Given the description of an element on the screen output the (x, y) to click on. 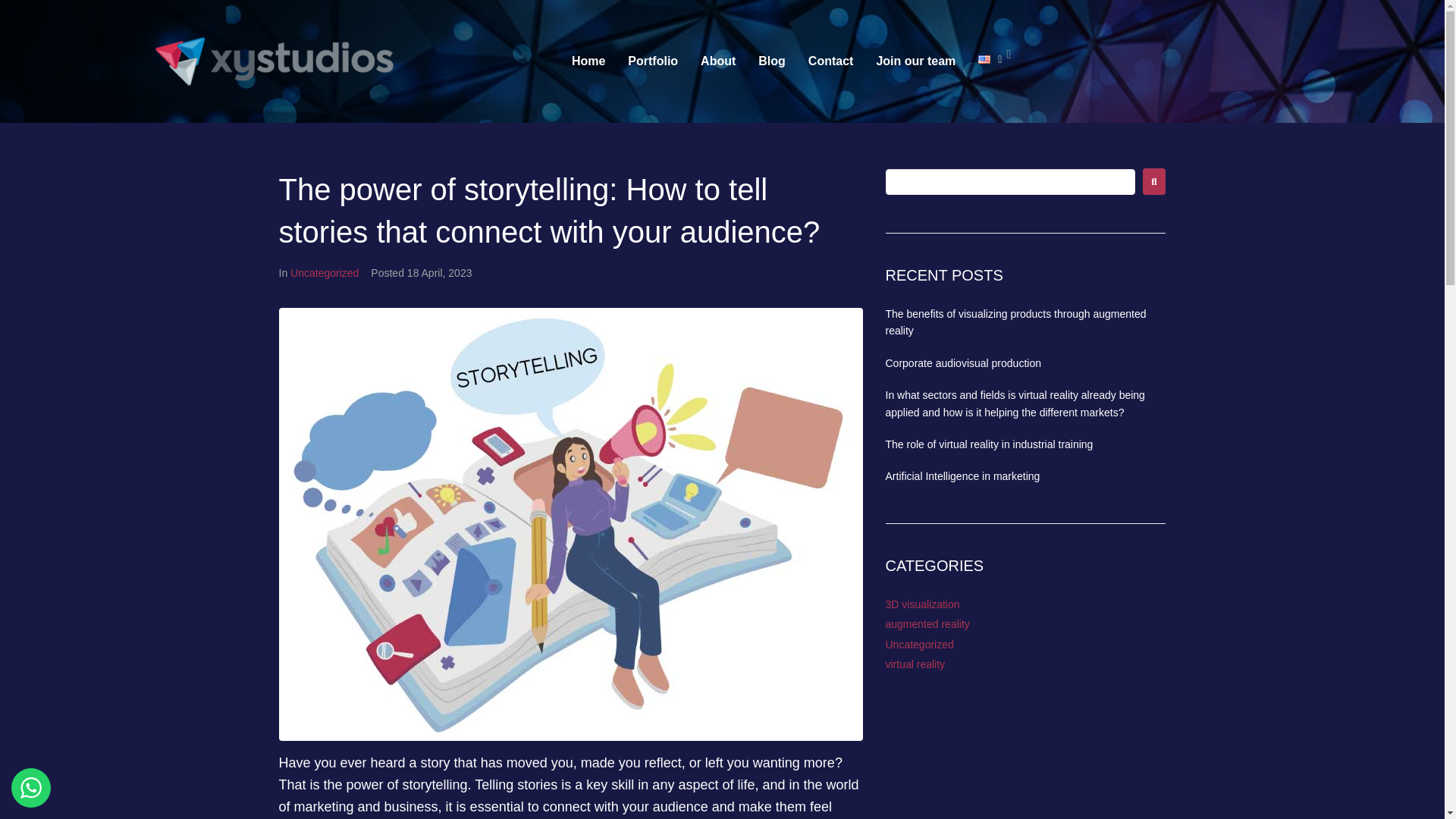
3D visualization (922, 604)
Portfolio (651, 61)
augmented reality (927, 623)
Contact (830, 61)
WhatsApp us (30, 787)
Uncategorized (919, 644)
Artificial Intelligence in marketing (963, 476)
Corporate audiovisual production (963, 363)
virtual reality (914, 664)
The role of virtual reality in industrial training (989, 444)
Join our team (915, 61)
Home (587, 61)
Blog (771, 61)
